Given the description of an element on the screen output the (x, y) to click on. 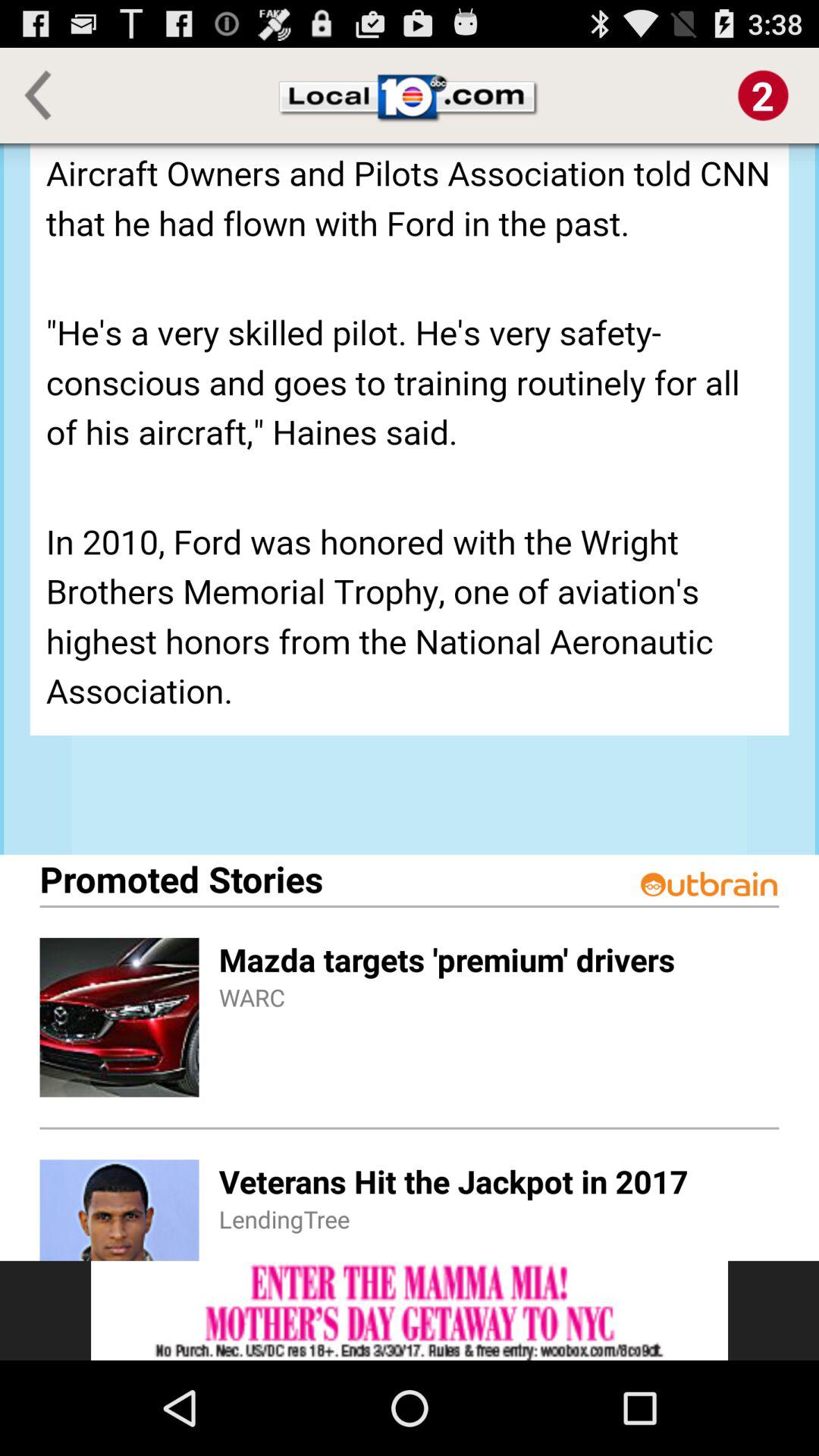
view notification (762, 95)
